Given the description of an element on the screen output the (x, y) to click on. 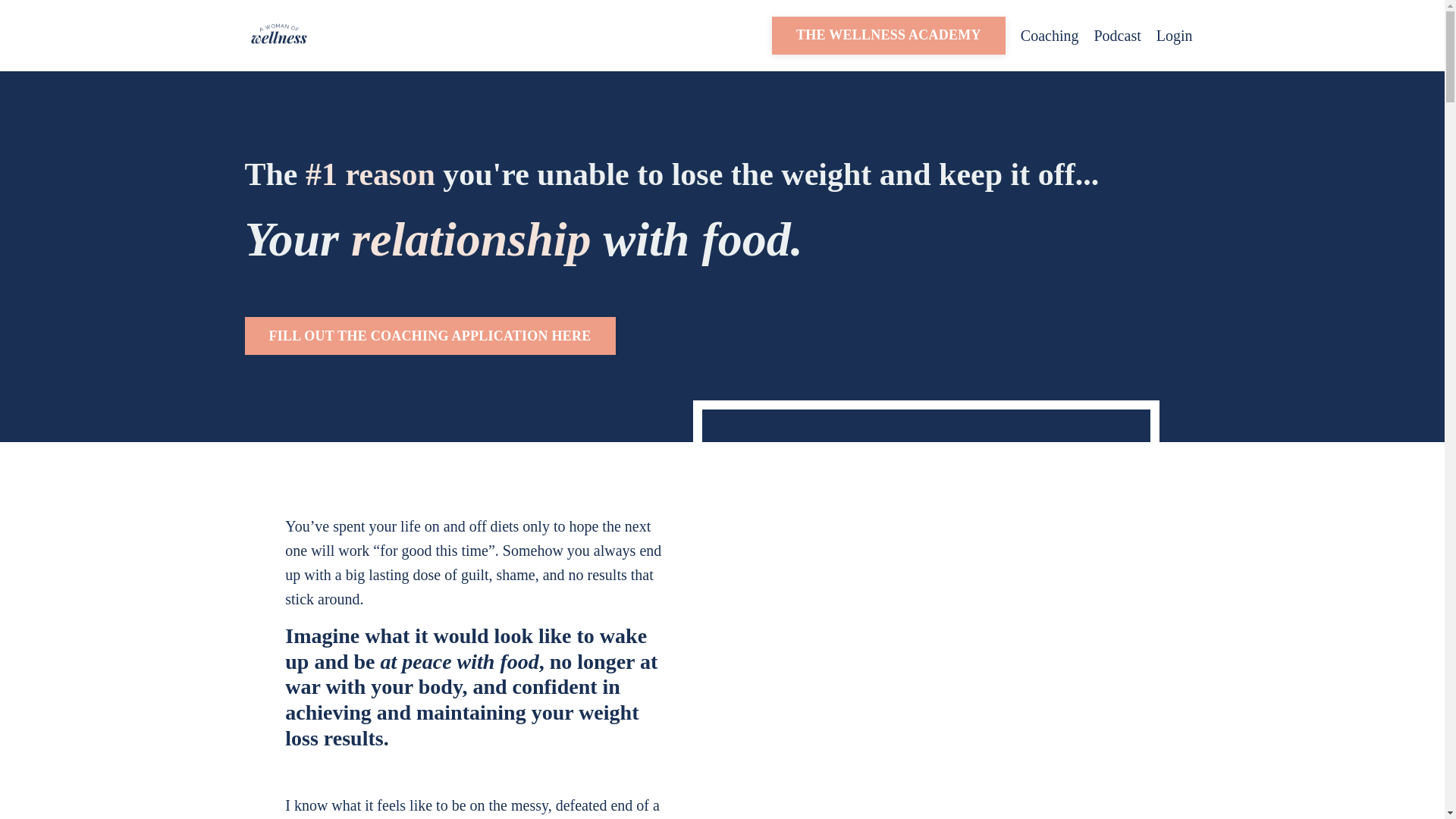
Podcast (1116, 35)
THE WELLNESS ACADEMY (888, 35)
Coaching (1049, 35)
Login (1174, 35)
FILL OUT THE COACHING APPLICATION HERE (429, 335)
